Given the description of an element on the screen output the (x, y) to click on. 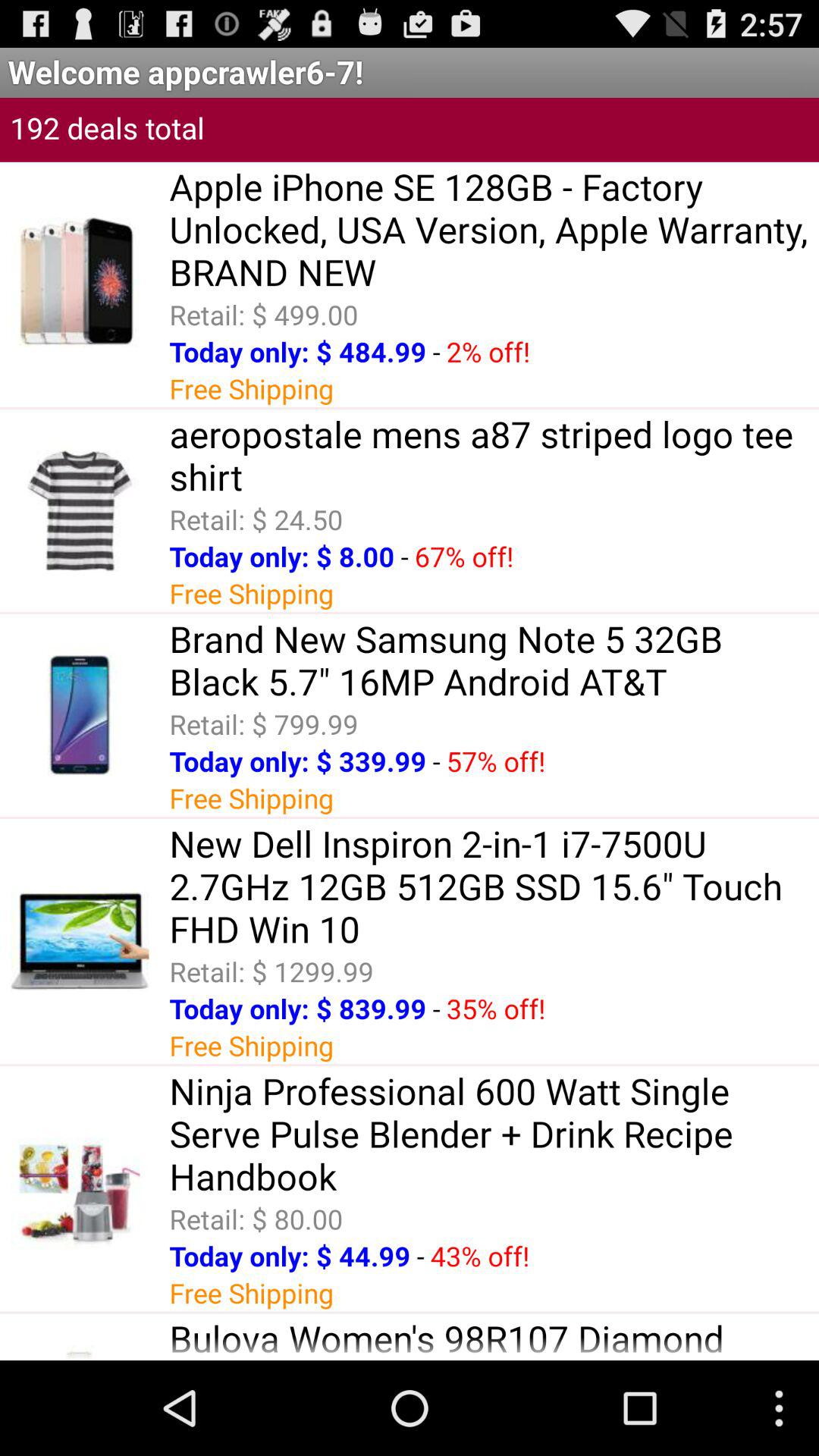
press icon below free shipping icon (494, 1336)
